Given the description of an element on the screen output the (x, y) to click on. 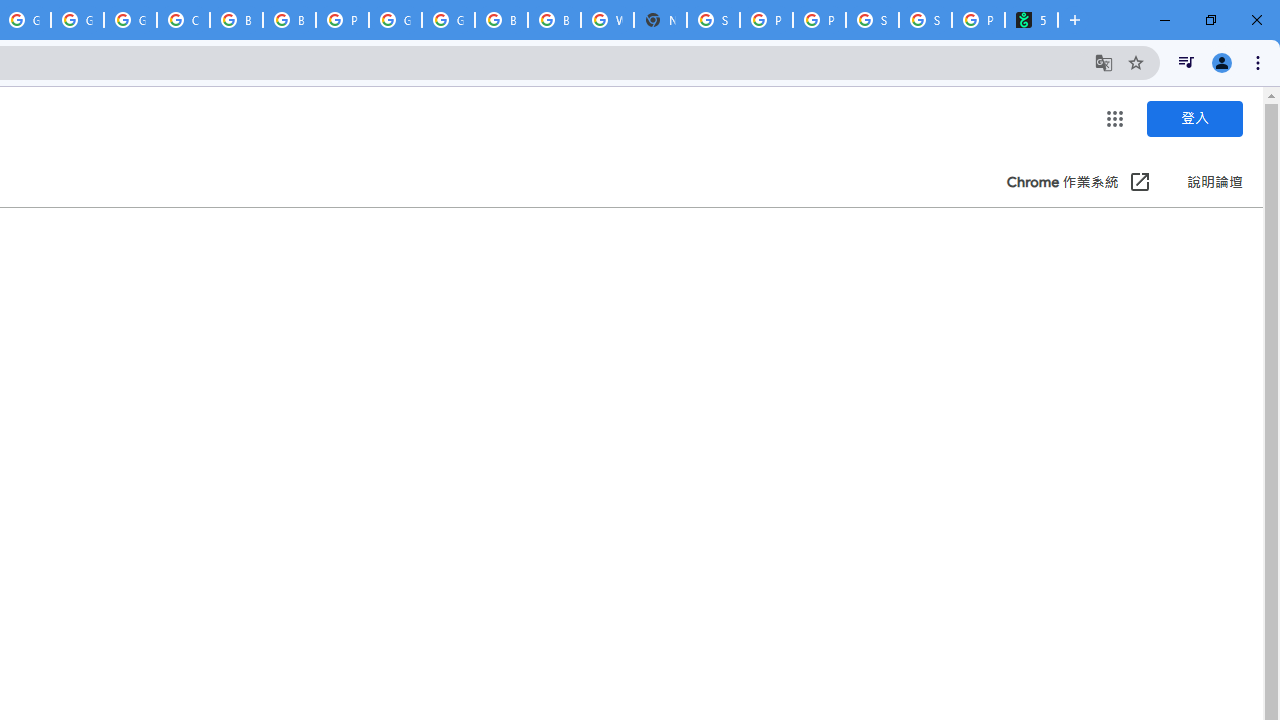
Browse Chrome as a guest - Computer - Google Chrome Help (501, 20)
Google Cloud Platform (395, 20)
Google Cloud Platform (77, 20)
Browse Chrome as a guest - Computer - Google Chrome Help (235, 20)
Translate this page (1103, 62)
Sign in - Google Accounts (713, 20)
Browse Chrome as a guest - Computer - Google Chrome Help (554, 20)
